Given the description of an element on the screen output the (x, y) to click on. 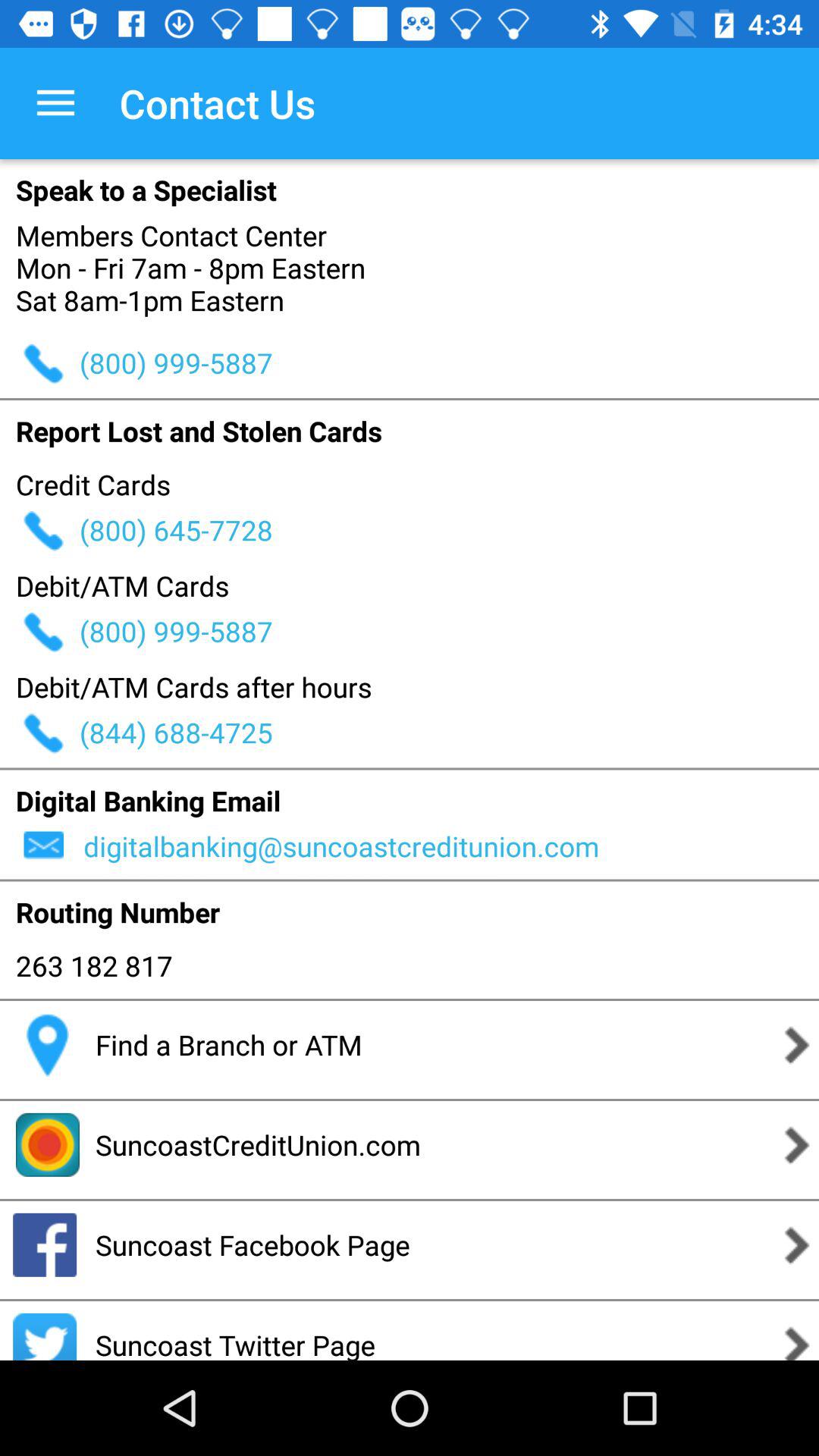
click digitalbanking@suncoastcreditunion.com (449, 846)
